Given the description of an element on the screen output the (x, y) to click on. 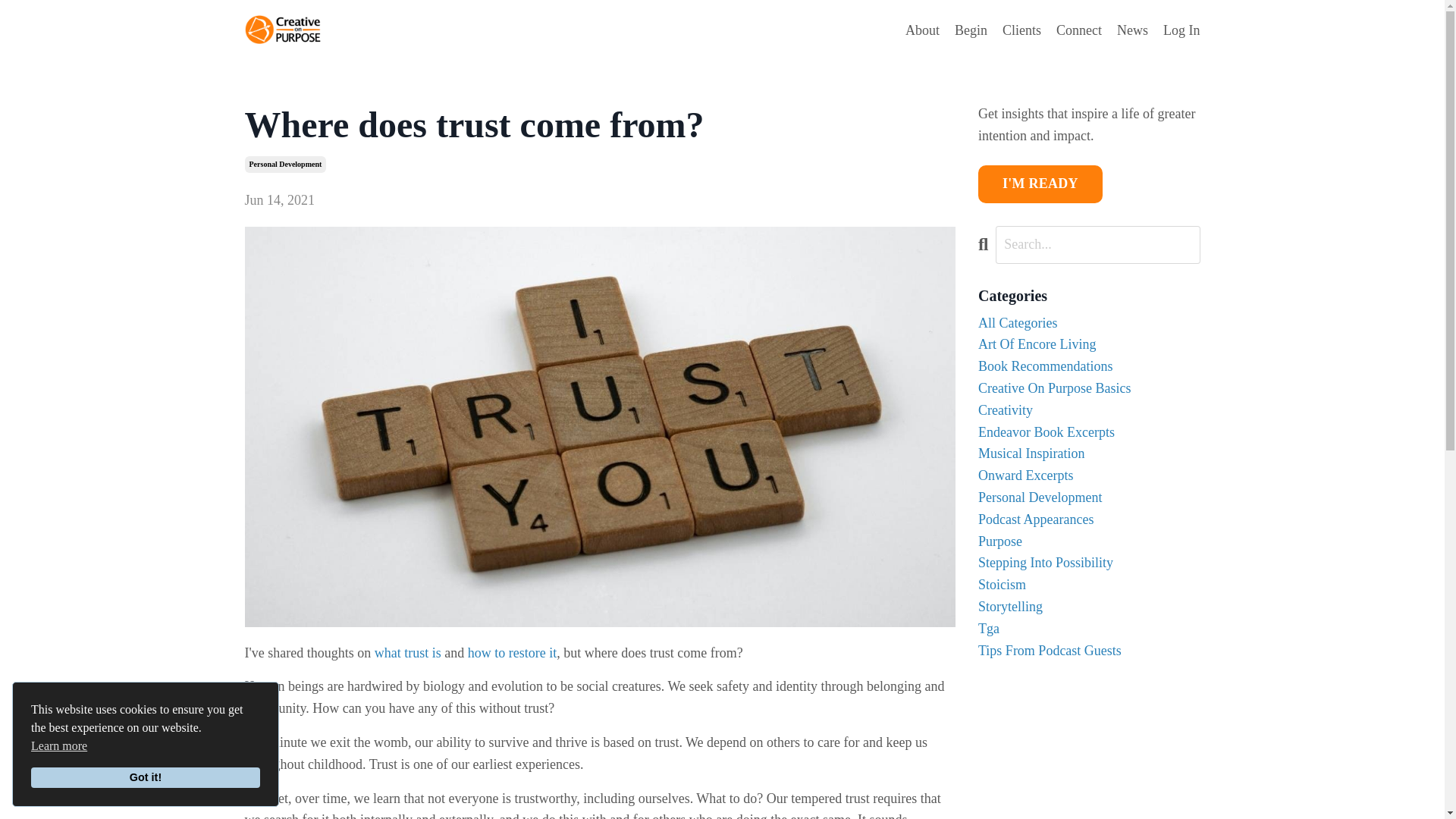
Tga (1088, 628)
News (1132, 30)
what trust is (407, 652)
Creativity (1088, 410)
Learn more (58, 746)
Podcast Appearances (1088, 519)
Art Of Encore Living (1088, 344)
Got it! (145, 777)
Stoicism (1088, 585)
Purpose (1088, 541)
Personal Development (1088, 497)
Creative On Purpose Basics (1088, 388)
All Categories (1088, 323)
Musical Inspiration (1088, 454)
Connect (1079, 30)
